Given the description of an element on the screen output the (x, y) to click on. 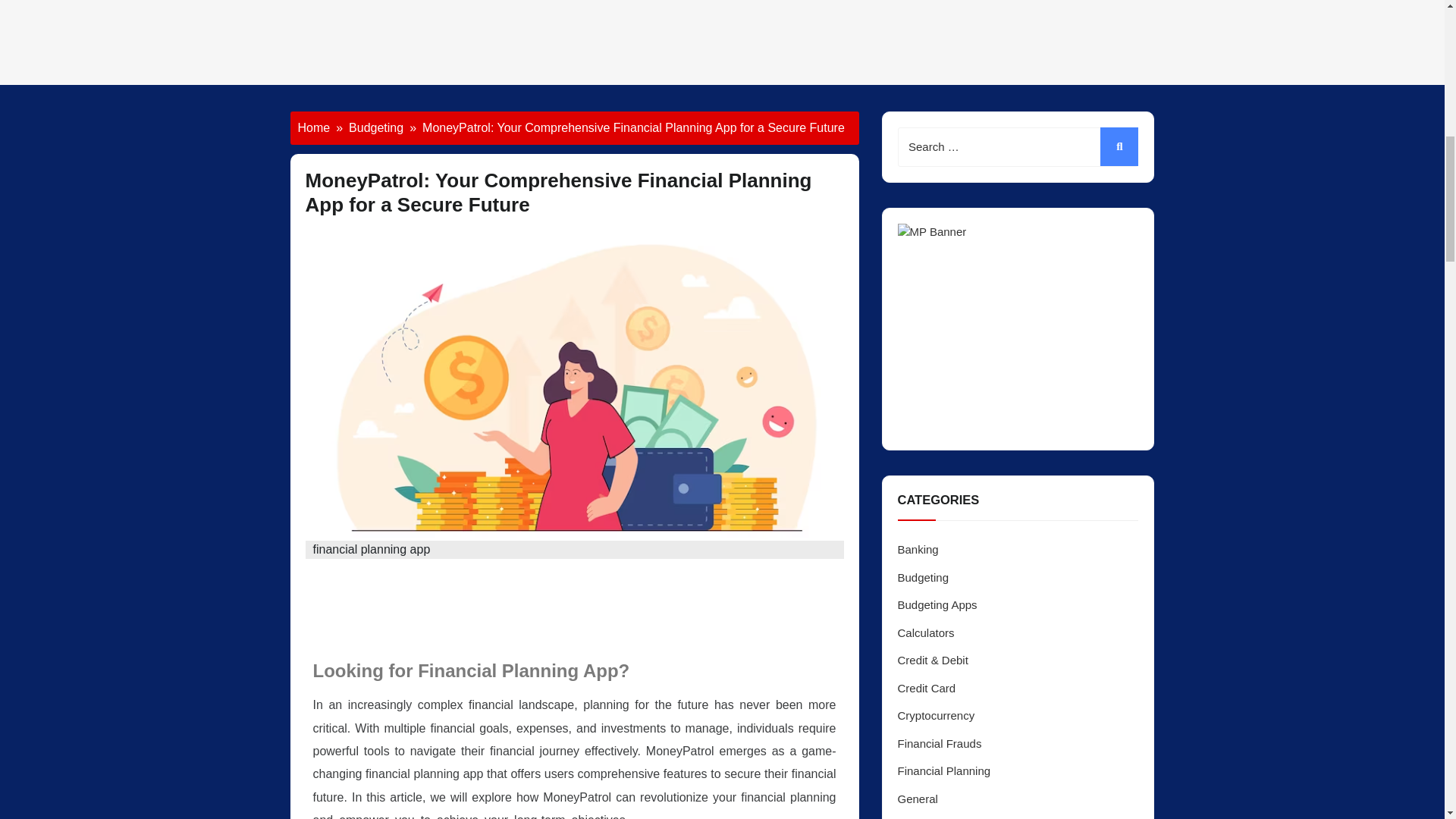
Home (313, 127)
MoneyPatrol (342, 608)
financial planning app (511, 608)
MoneyPatrol (664, 816)
Budgeting (376, 127)
